Given the description of an element on the screen output the (x, y) to click on. 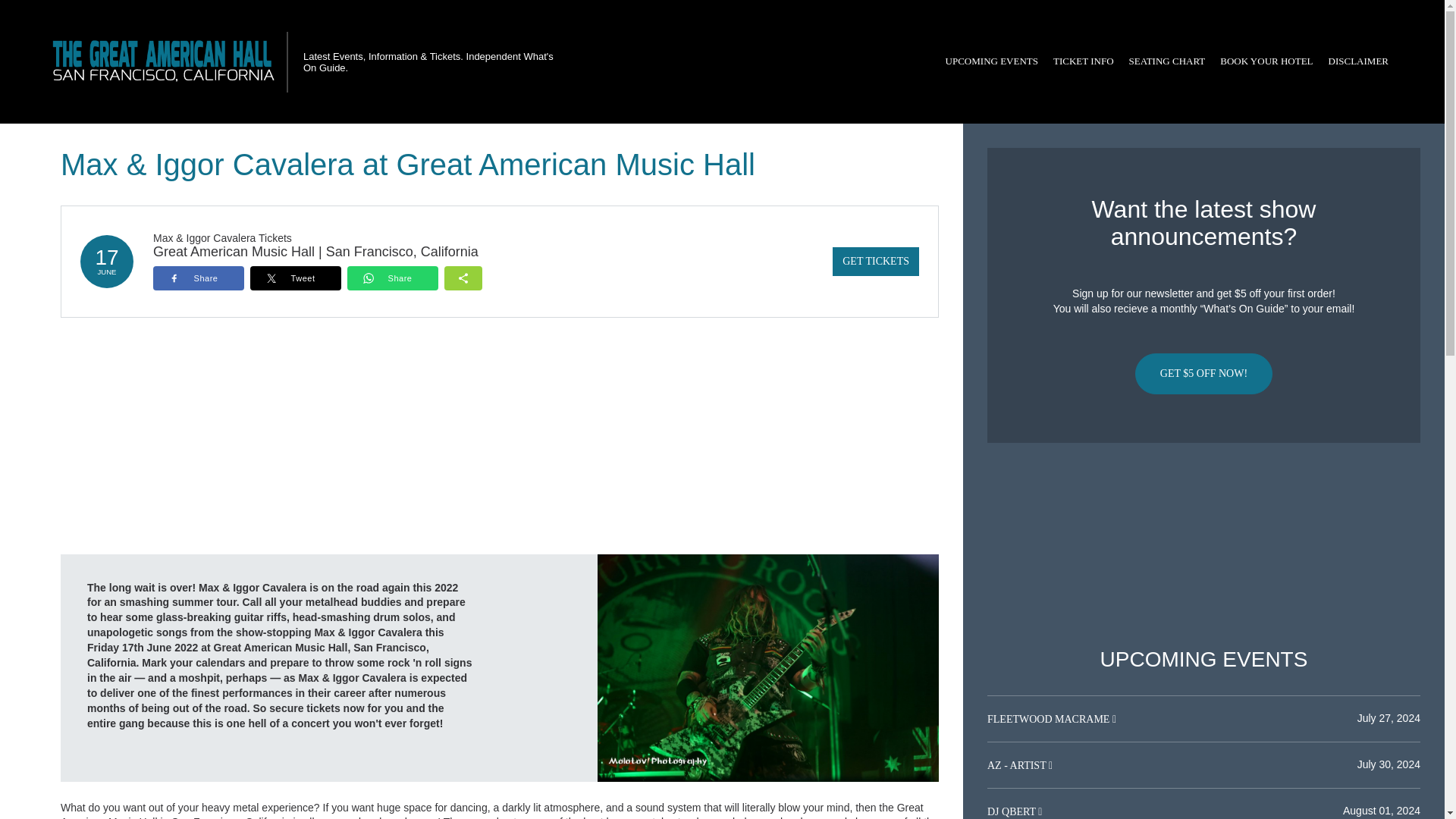
GET TICKETS (875, 261)
AZ - ARTIST (1017, 765)
SEATING CHART (1166, 61)
Advertisement (1204, 545)
BOOK YOUR HOTEL (1266, 61)
UPCOMING EVENTS (991, 61)
TICKET INFO (1083, 61)
DISCLAIMER (1358, 61)
